Given the description of an element on the screen output the (x, y) to click on. 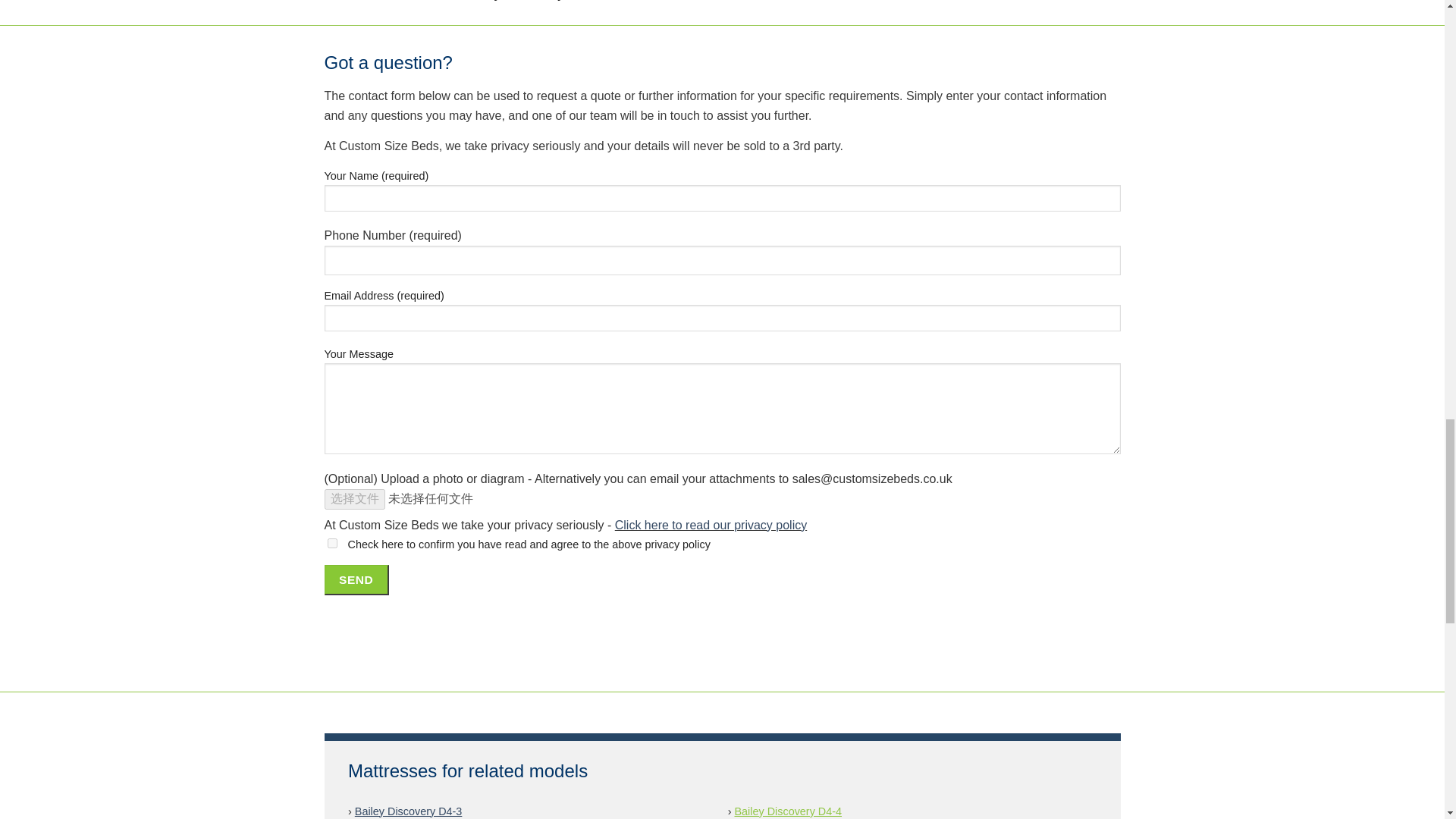
Send (356, 580)
1 (332, 542)
